Given the description of an element on the screen output the (x, y) to click on. 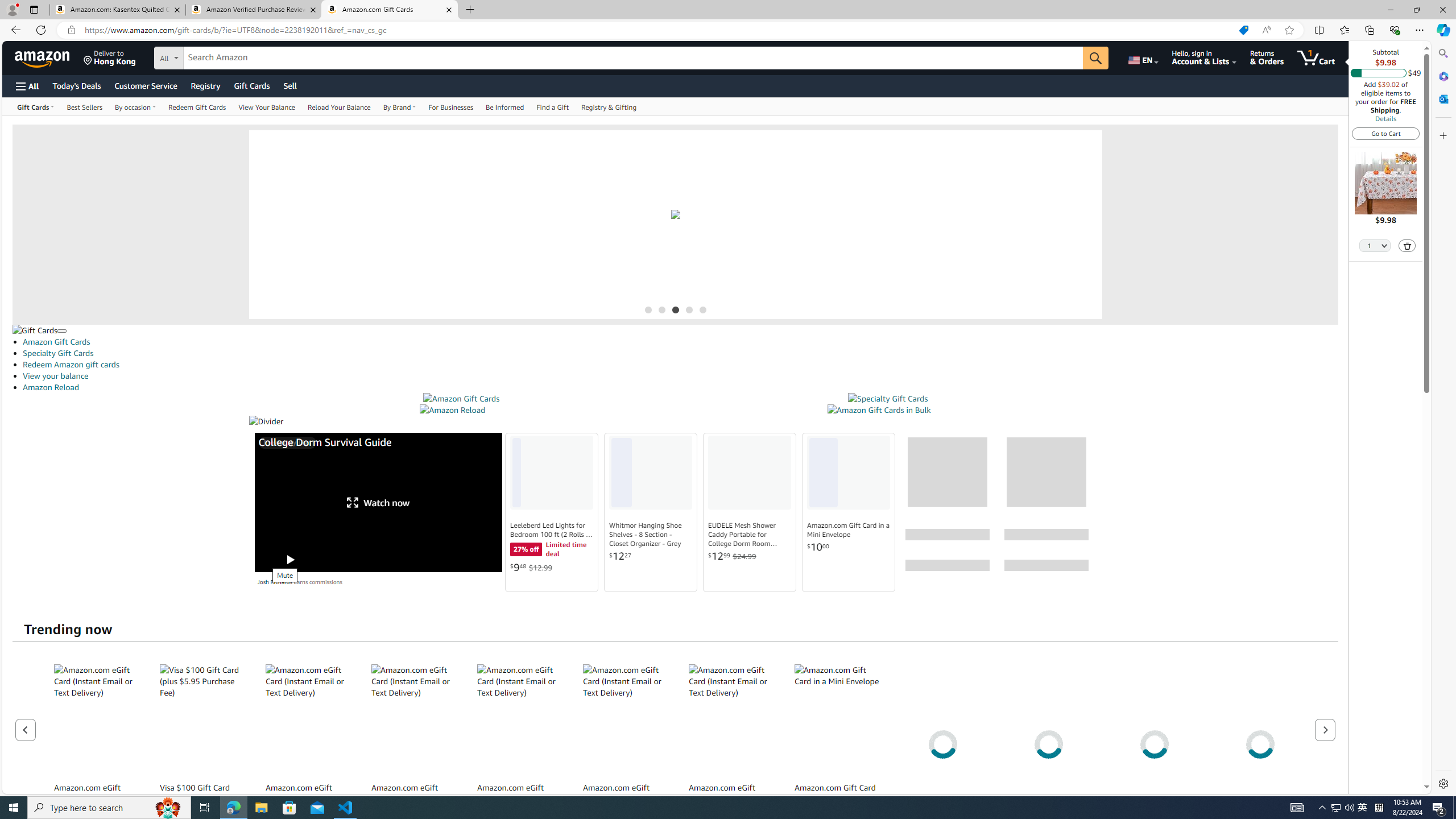
Deliver to Hong Kong (109, 57)
Delete (1407, 245)
Amazon Reload (452, 410)
Specialty Gift Cards (680, 352)
Go to Cart (1385, 133)
Open Menu (26, 86)
Redeem Amazon gift cards (680, 364)
Amazon Reload (680, 387)
Best Sellers (84, 106)
